Given the description of an element on the screen output the (x, y) to click on. 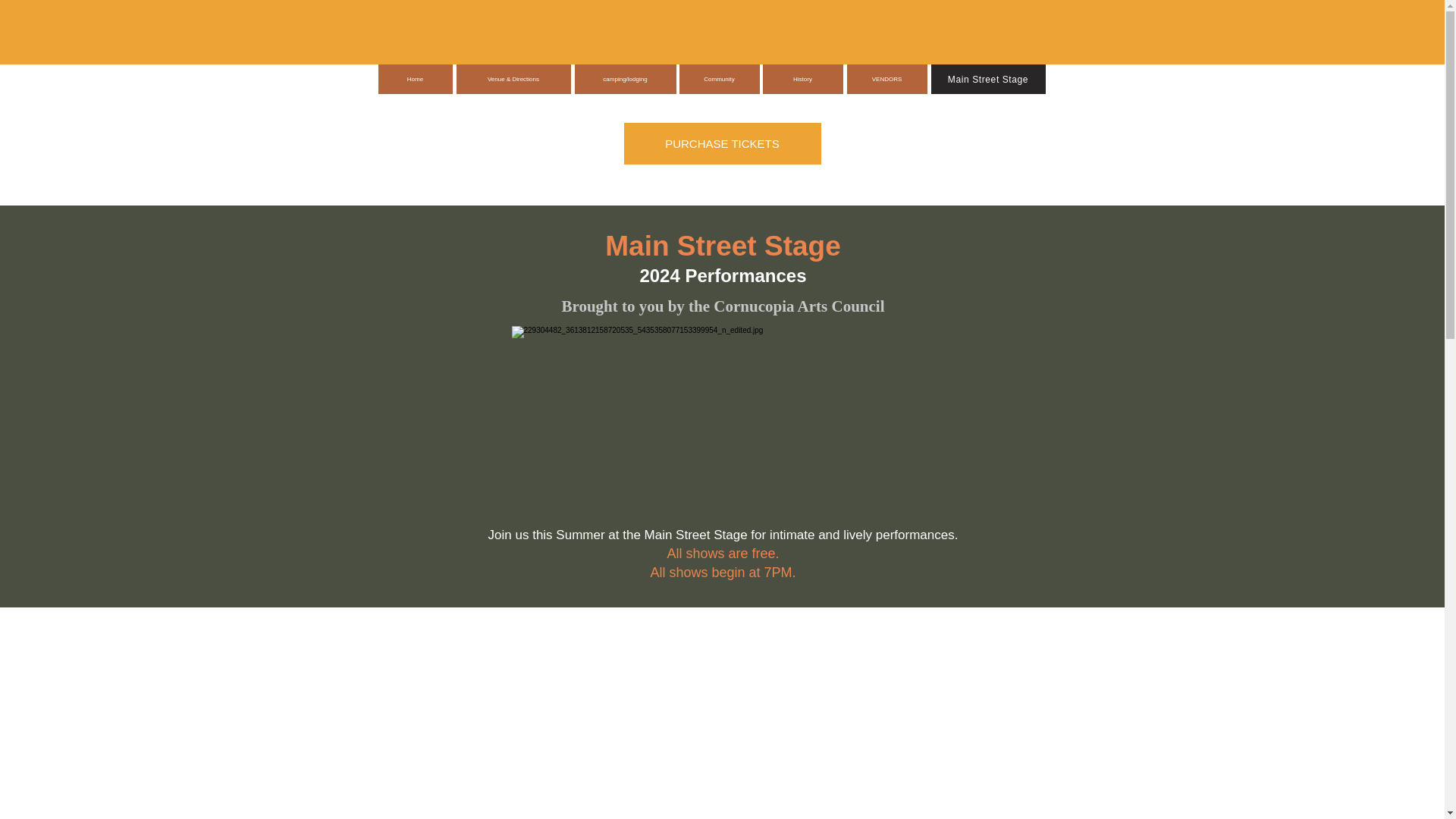
Home (414, 79)
PURCHASE TICKETS (722, 143)
Community (719, 79)
Main Street Stage (988, 79)
VENDORS (885, 79)
History (802, 79)
